Given the description of an element on the screen output the (x, y) to click on. 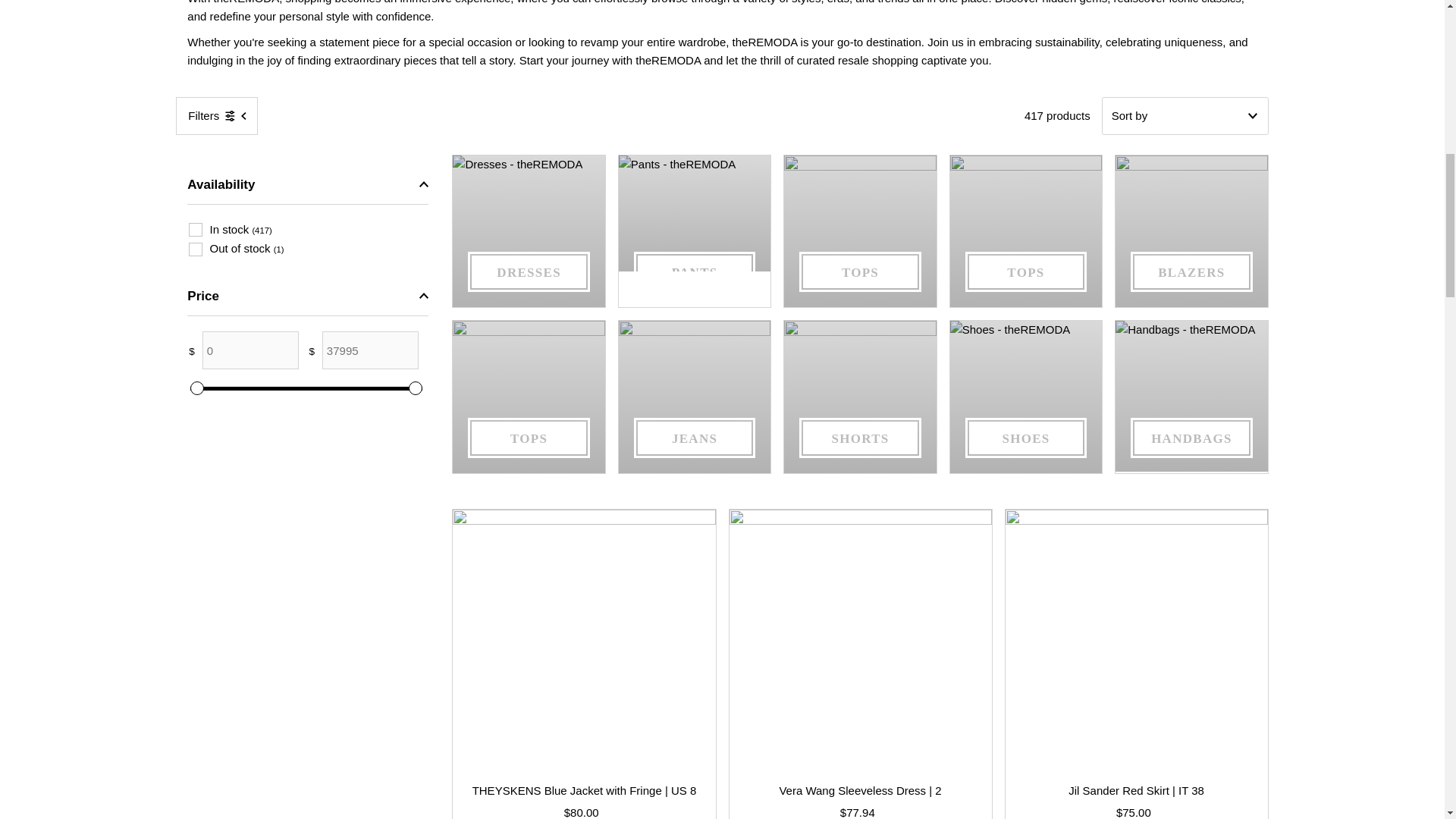
0 (306, 388)
Pants (694, 271)
Tops (1025, 271)
Tops (860, 231)
Tops (860, 271)
Dresses (528, 231)
37995 (306, 388)
Blazers (1190, 231)
Tops (1026, 231)
Filters (216, 116)
